Given the description of an element on the screen output the (x, y) to click on. 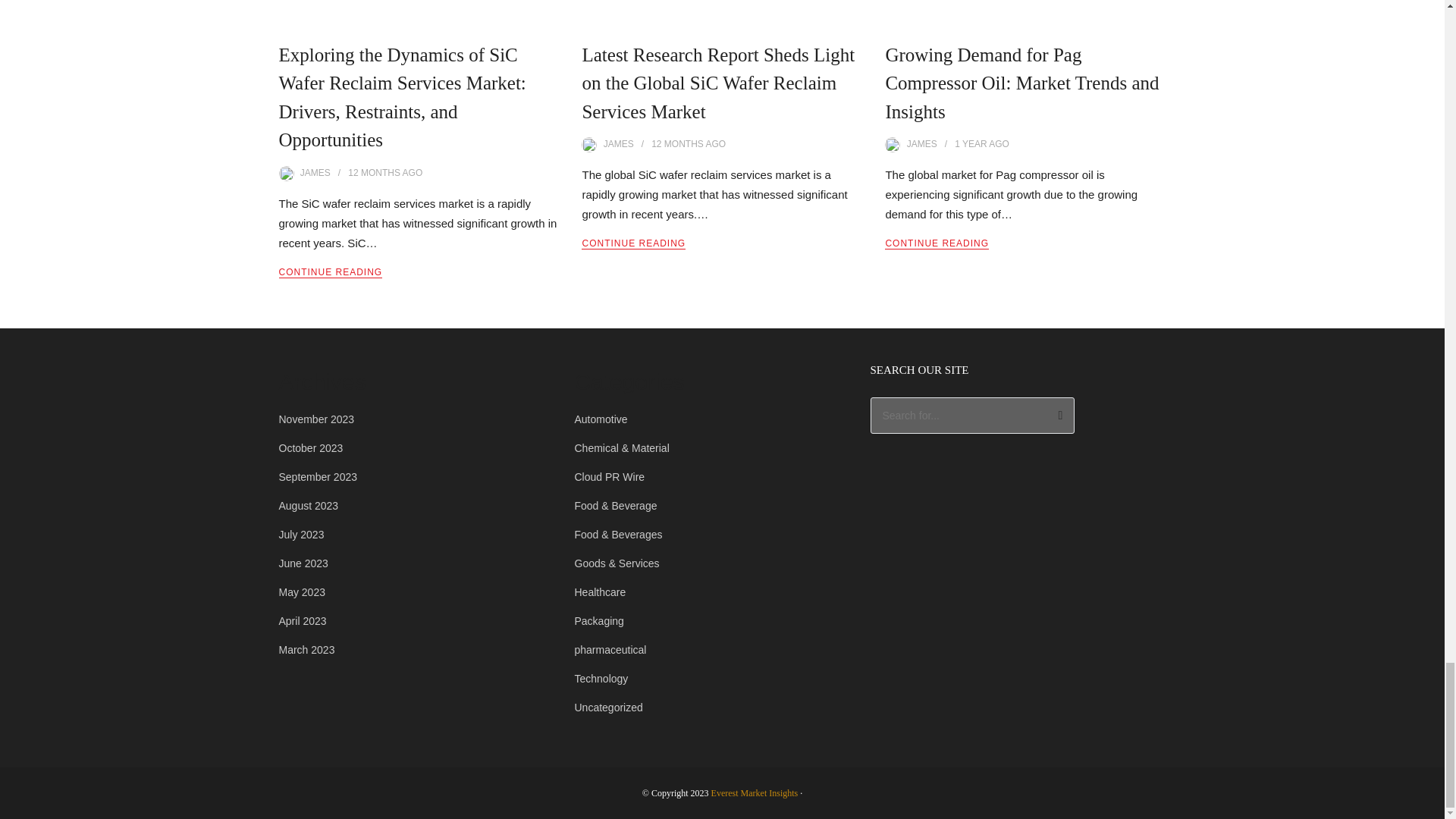
Search for: (972, 415)
